Given the description of an element on the screen output the (x, y) to click on. 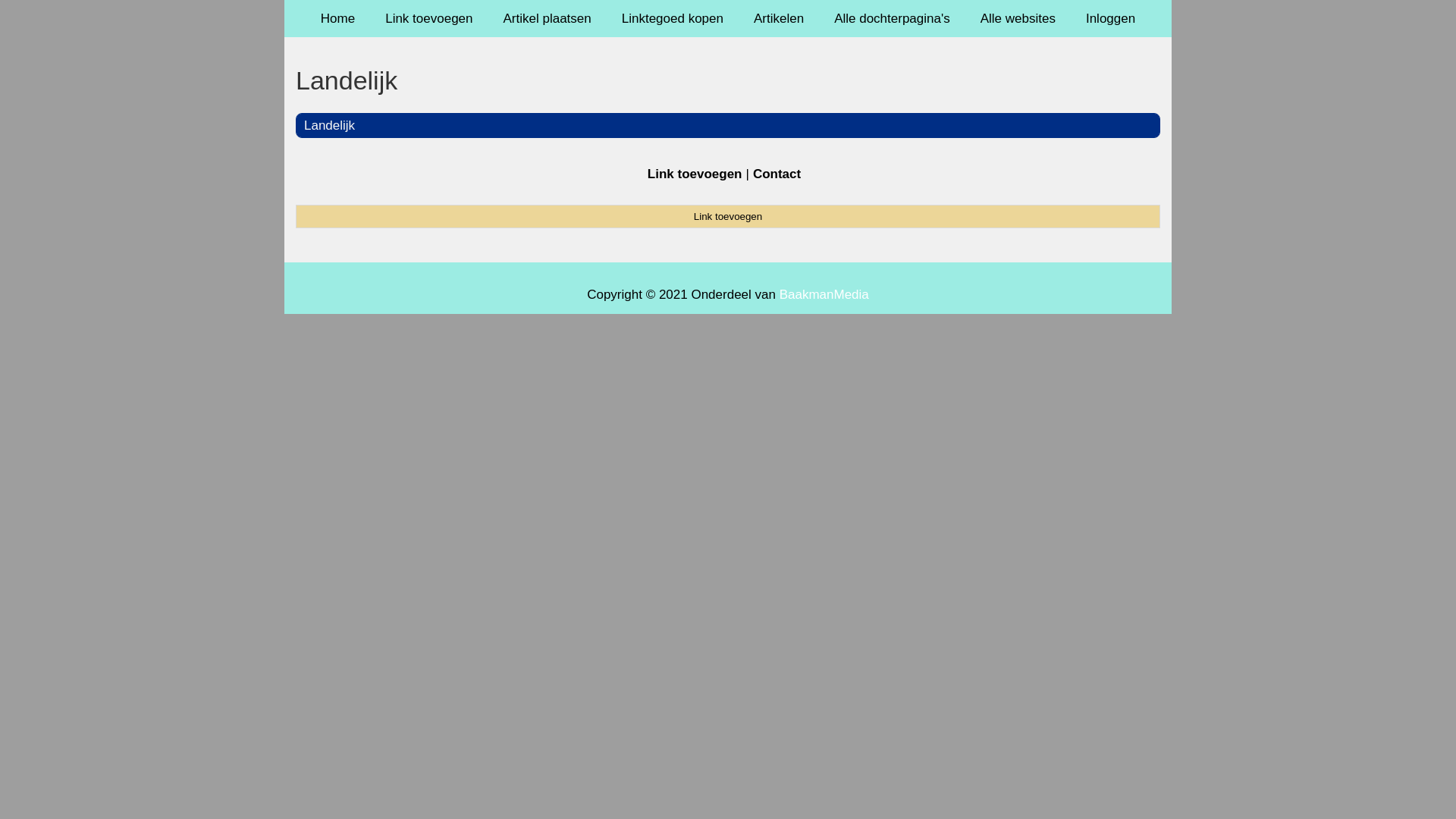
Link toevoegen Element type: text (428, 18)
Home Element type: text (337, 18)
Landelijk Element type: text (329, 125)
Artikelen Element type: text (778, 18)
Link toevoegen Element type: text (694, 173)
Contact Element type: text (776, 173)
Inloggen Element type: text (1110, 18)
Linktegoed kopen Element type: text (672, 18)
Artikel plaatsen Element type: text (547, 18)
Landelijk Element type: text (727, 80)
Alle websites Element type: text (1017, 18)
Link toevoegen Element type: text (727, 215)
Alle dochterpagina's Element type: text (892, 18)
BaakmanMedia Element type: text (824, 294)
